Given the description of an element on the screen output the (x, y) to click on. 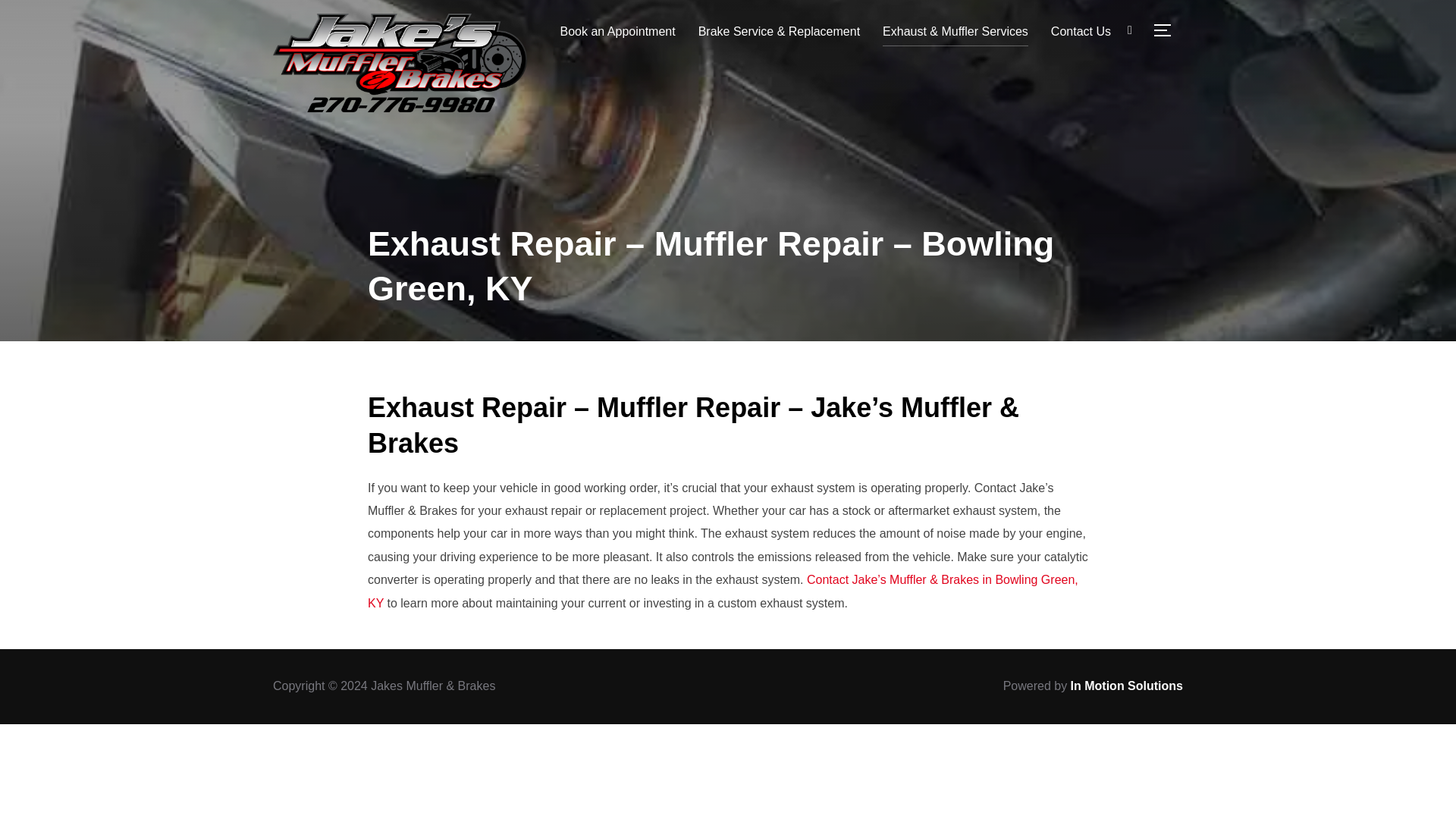
Book an Appointment (617, 31)
Contact Us (1080, 31)
Search (15, 15)
In Motion Solutions (1126, 685)
